Given the description of an element on the screen output the (x, y) to click on. 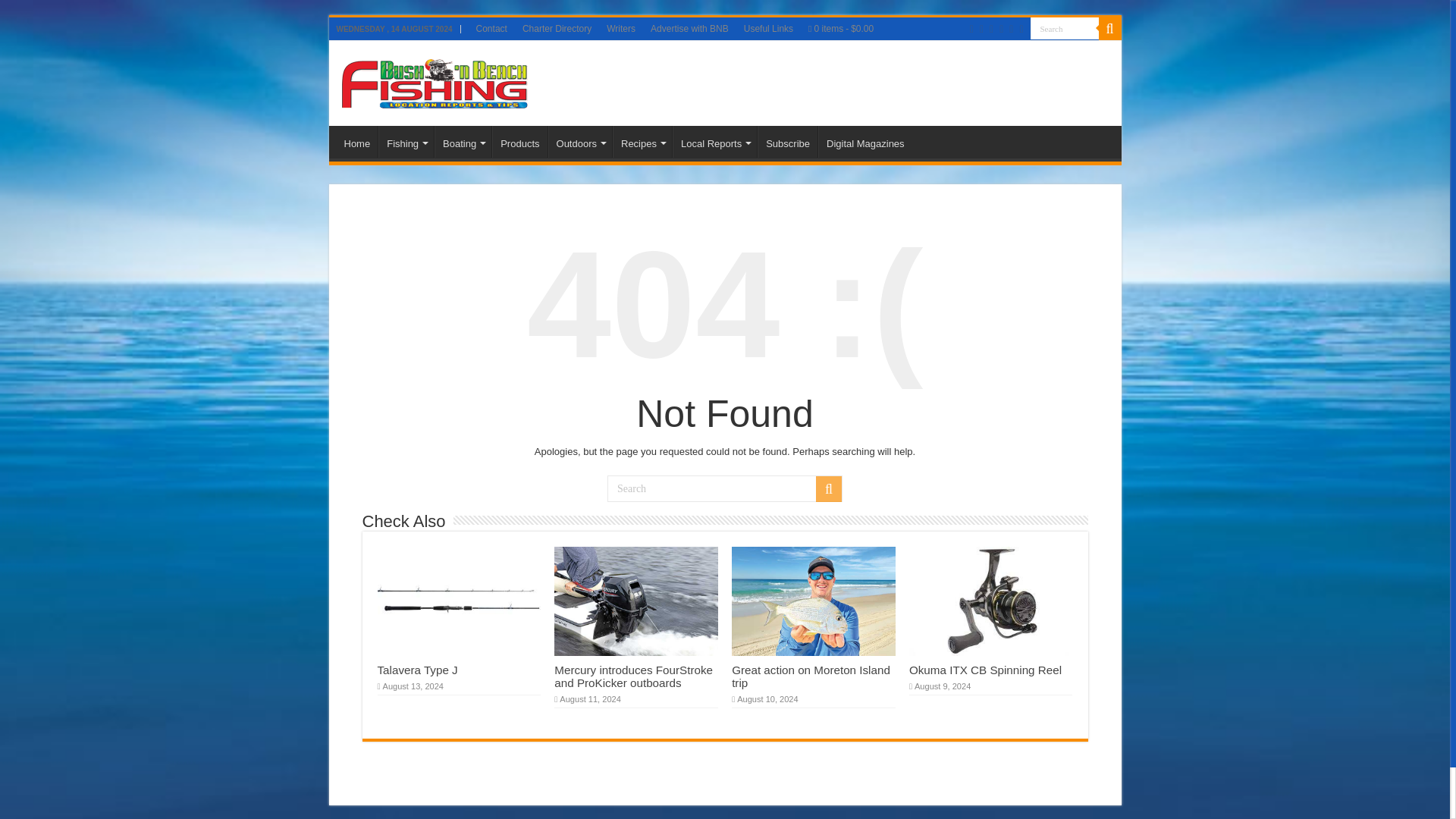
Search (1063, 28)
Search (1063, 28)
Search (1063, 28)
Search (725, 488)
Start shopping (840, 28)
